Given the description of an element on the screen output the (x, y) to click on. 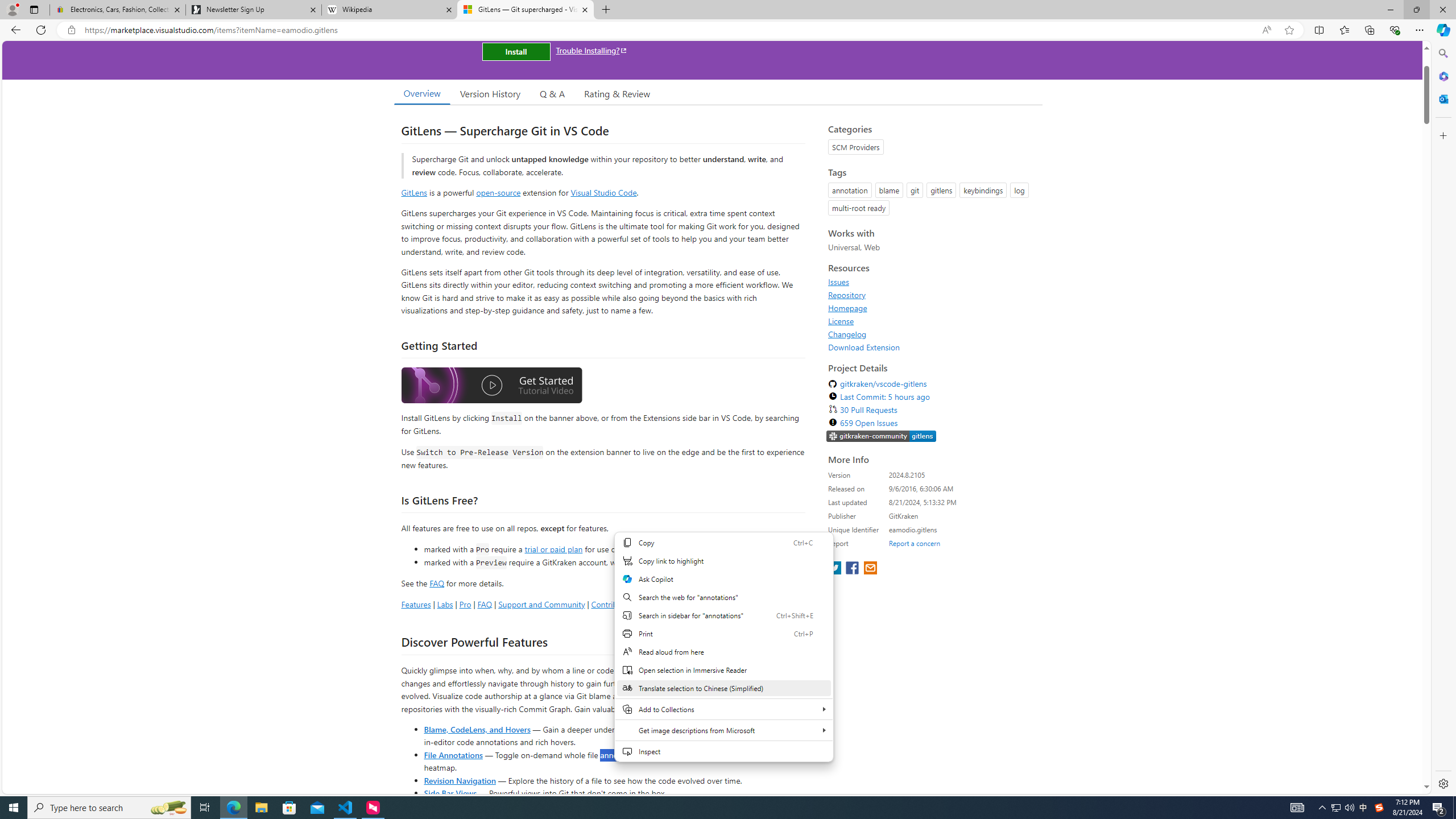
Support and Community (541, 603)
Add to Collections (723, 709)
